Given the description of an element on the screen output the (x, y) to click on. 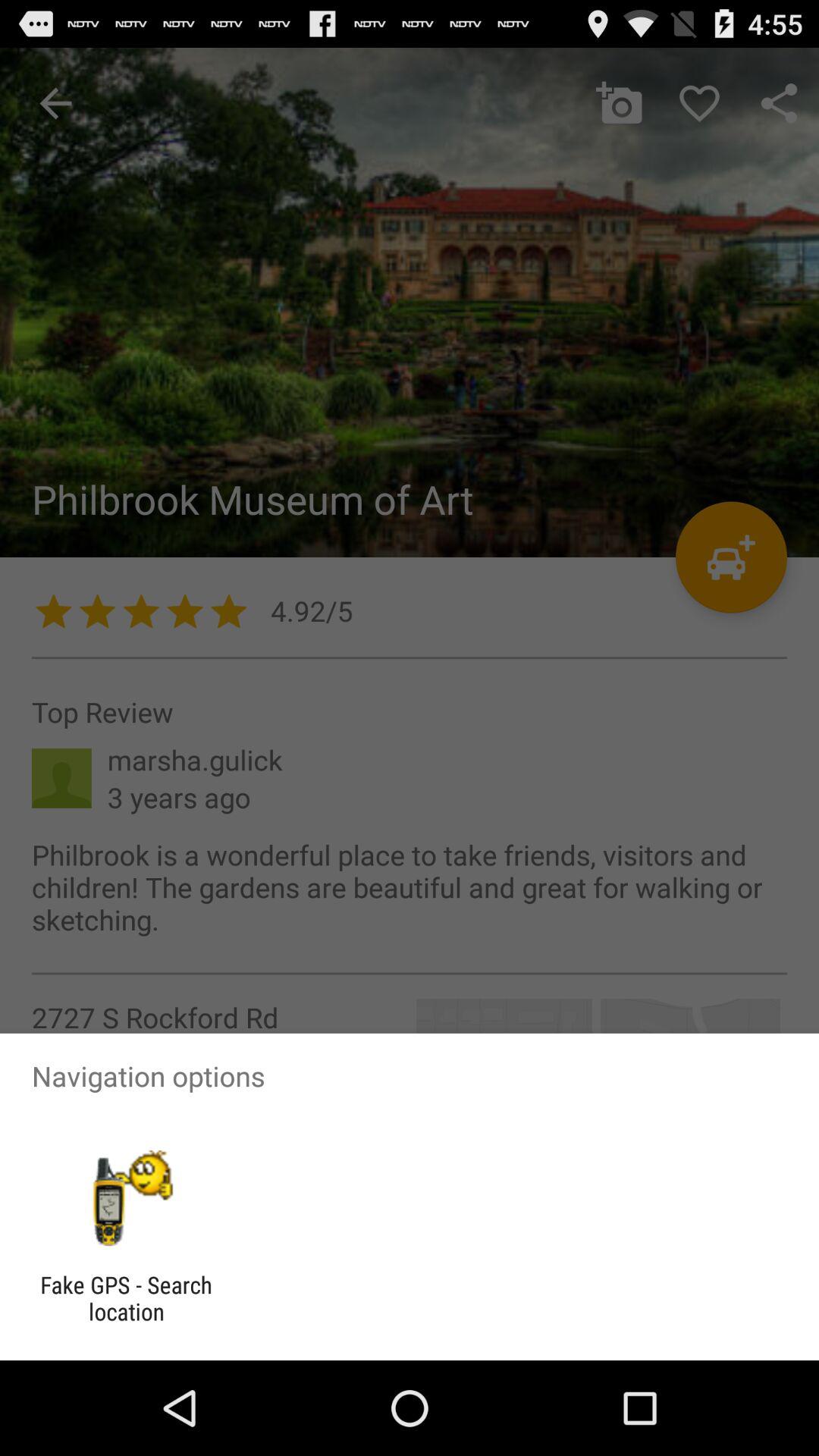
launch the fake gps search app (125, 1298)
